Given the description of an element on the screen output the (x, y) to click on. 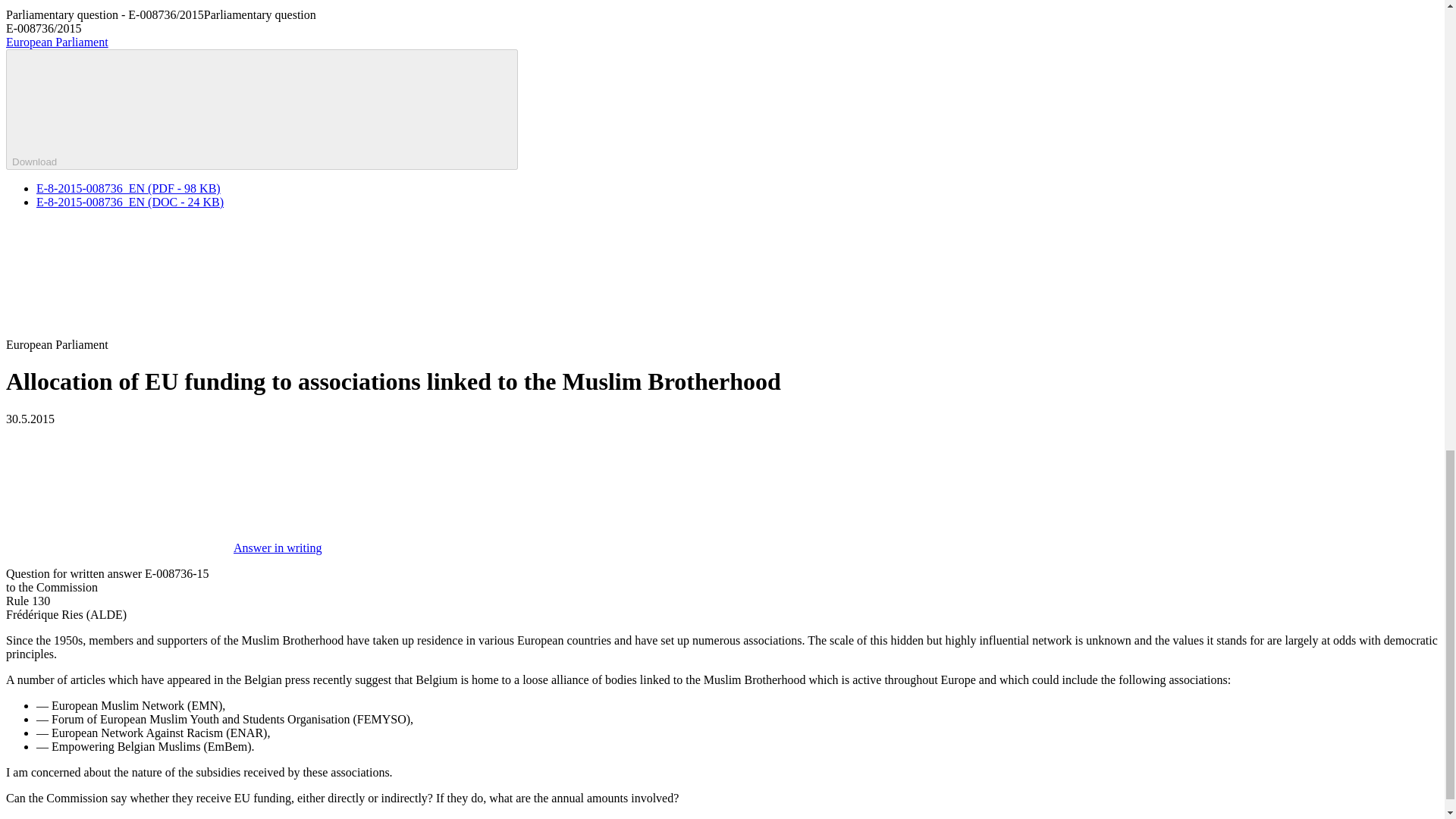
Answer in writing (163, 547)
European Parliament (56, 42)
Go back to the Europarl portal (56, 42)
Download (261, 109)
